Given the description of an element on the screen output the (x, y) to click on. 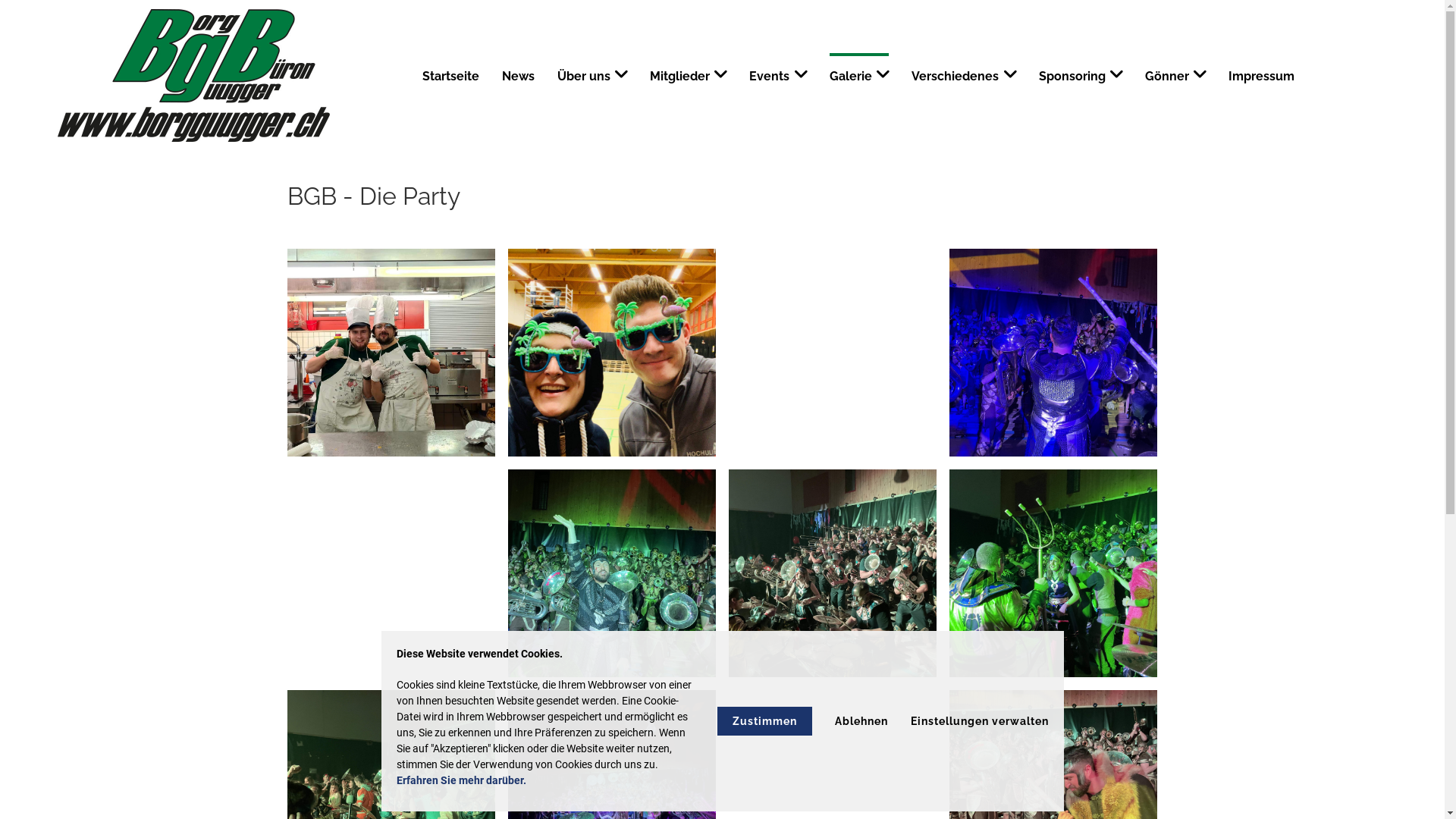
News Element type: text (521, 76)
Ablehnen Element type: text (860, 720)
Startseite Element type: text (454, 76)
Einstellungen verwalten Element type: text (979, 720)
logo Element type: hover (193, 75)
Impressum Element type: text (1256, 76)
Zustimmen Element type: text (764, 720)
